Given the description of an element on the screen output the (x, y) to click on. 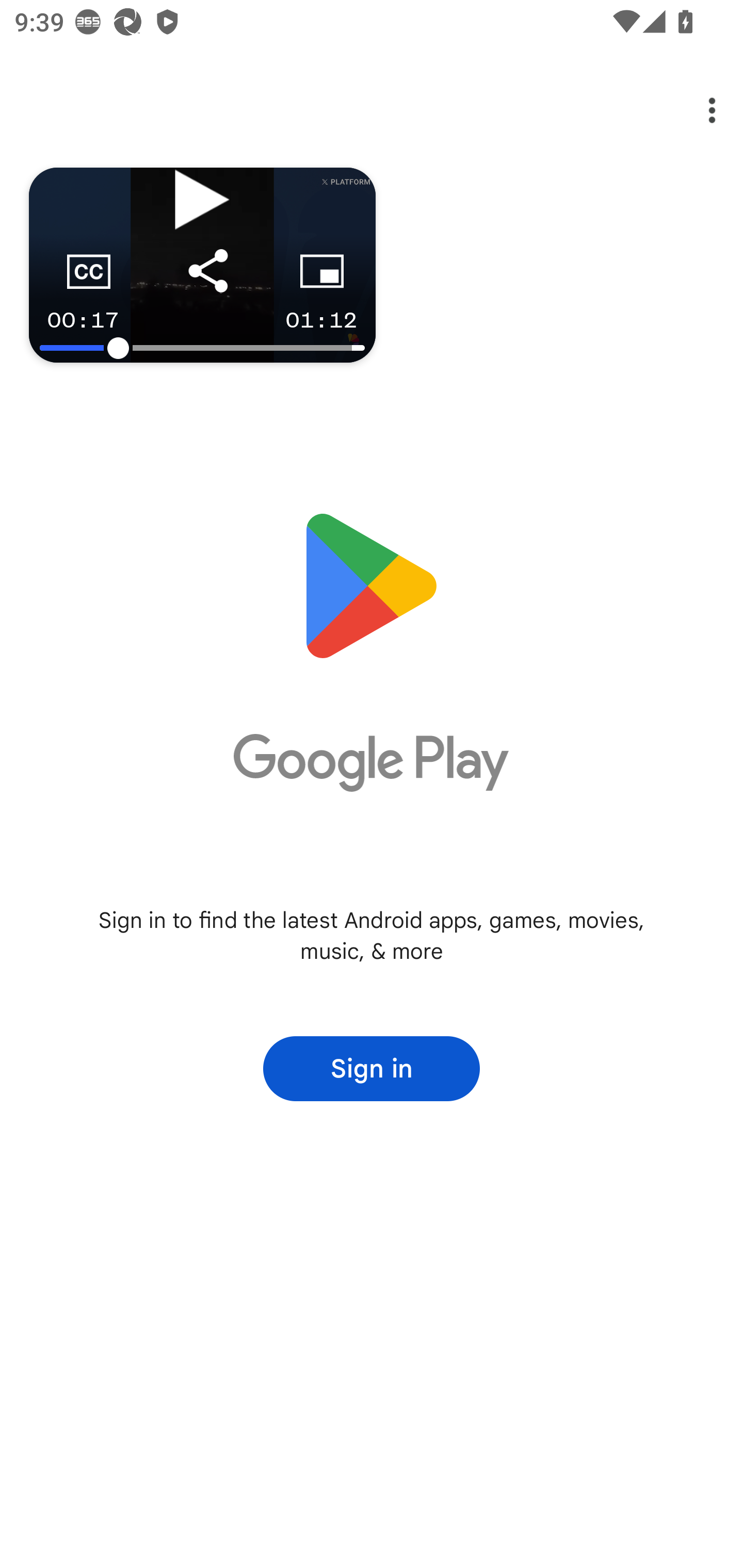
Options (697, 110)
Sign in (371, 1068)
